Given the description of an element on the screen output the (x, y) to click on. 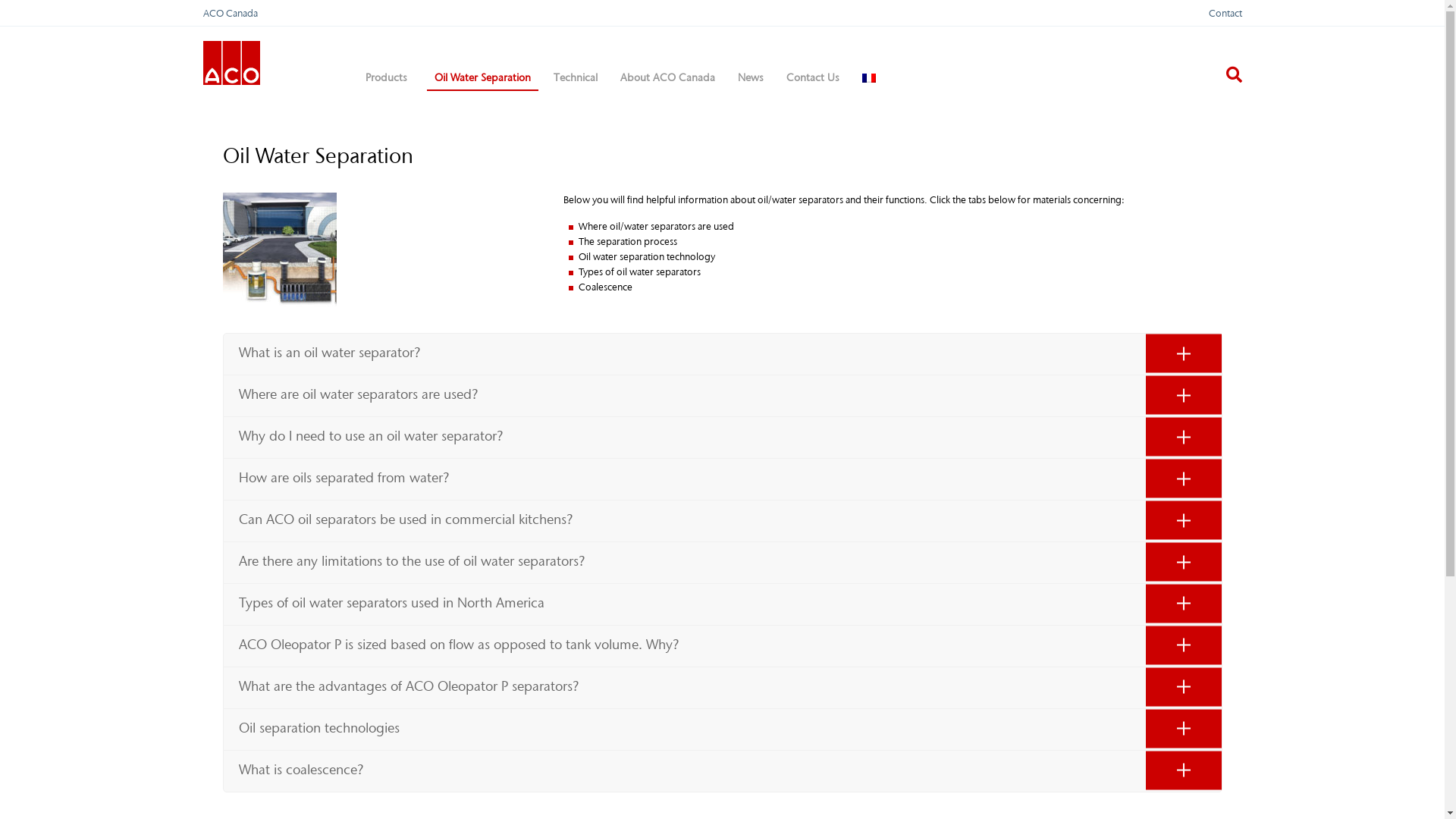
Contact Us Element type: text (812, 77)
Types of oil water separators used in North America Element type: text (721, 603)
Corporate Element type: hover (231, 62)
What is an oil water separator? Element type: text (721, 353)
Oil separation technologies Element type: text (721, 728)
News Element type: text (749, 77)
Can ACO oil separators be used in commercial kitchens? Element type: text (721, 519)
Why do I need to use an oil water separator? Element type: text (721, 436)
How are oils separated from water? Element type: text (721, 478)
Where are oil water separators are used? Element type: text (721, 394)
Oil Water Separation Element type: text (481, 77)
What are the advantages of ACO Oleopator P separators? Element type: text (721, 686)
Contact Element type: text (1225, 13)
What is coalescence? Element type: text (721, 770)
Products Element type: text (388, 77)
About ACO Canada Element type: text (667, 77)
ACO Corporate Element type: hover (231, 61)
Technical Element type: text (575, 77)
